Given the description of an element on the screen output the (x, y) to click on. 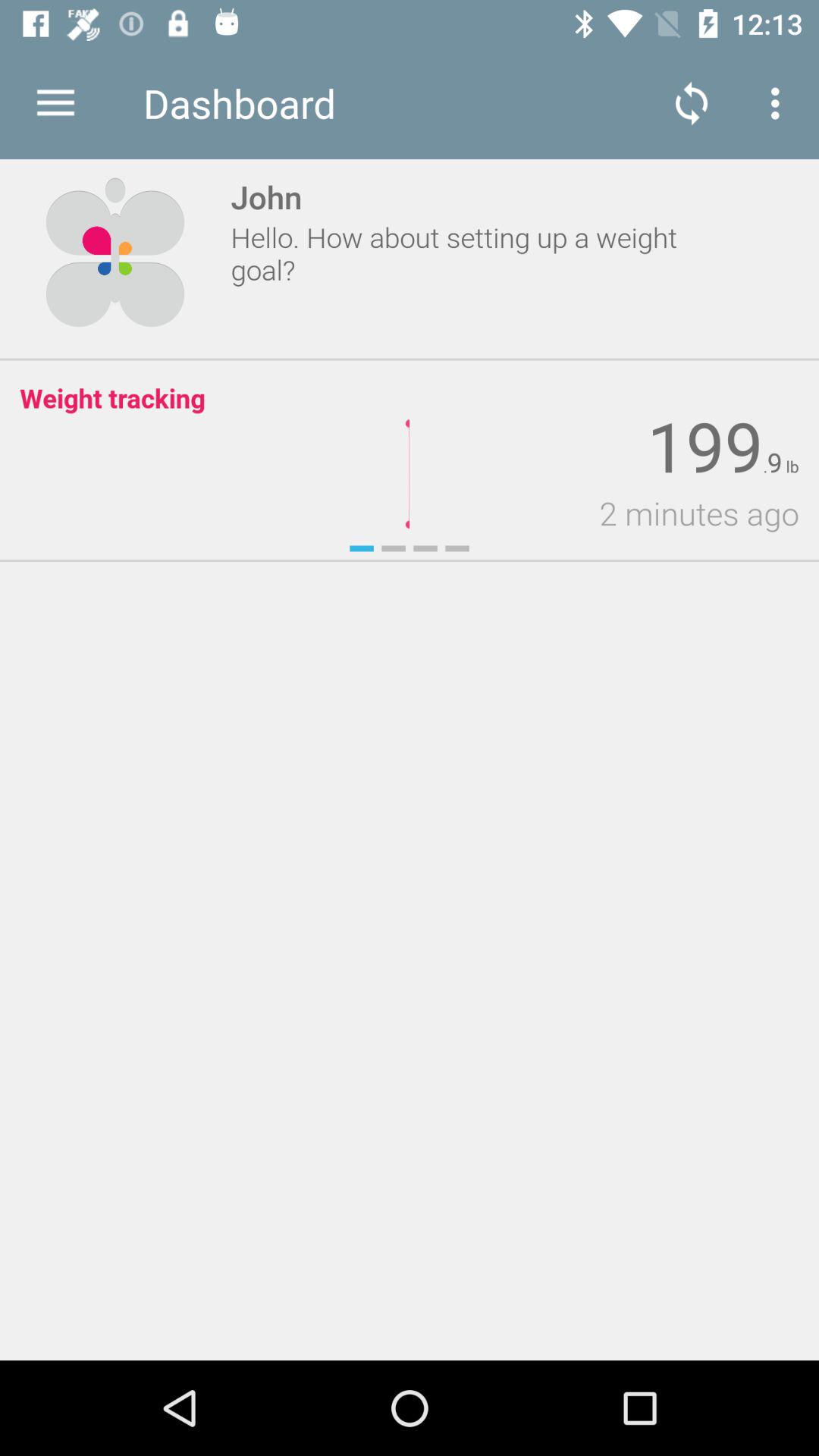
press the icon to the right of . item (774, 462)
